Given the description of an element on the screen output the (x, y) to click on. 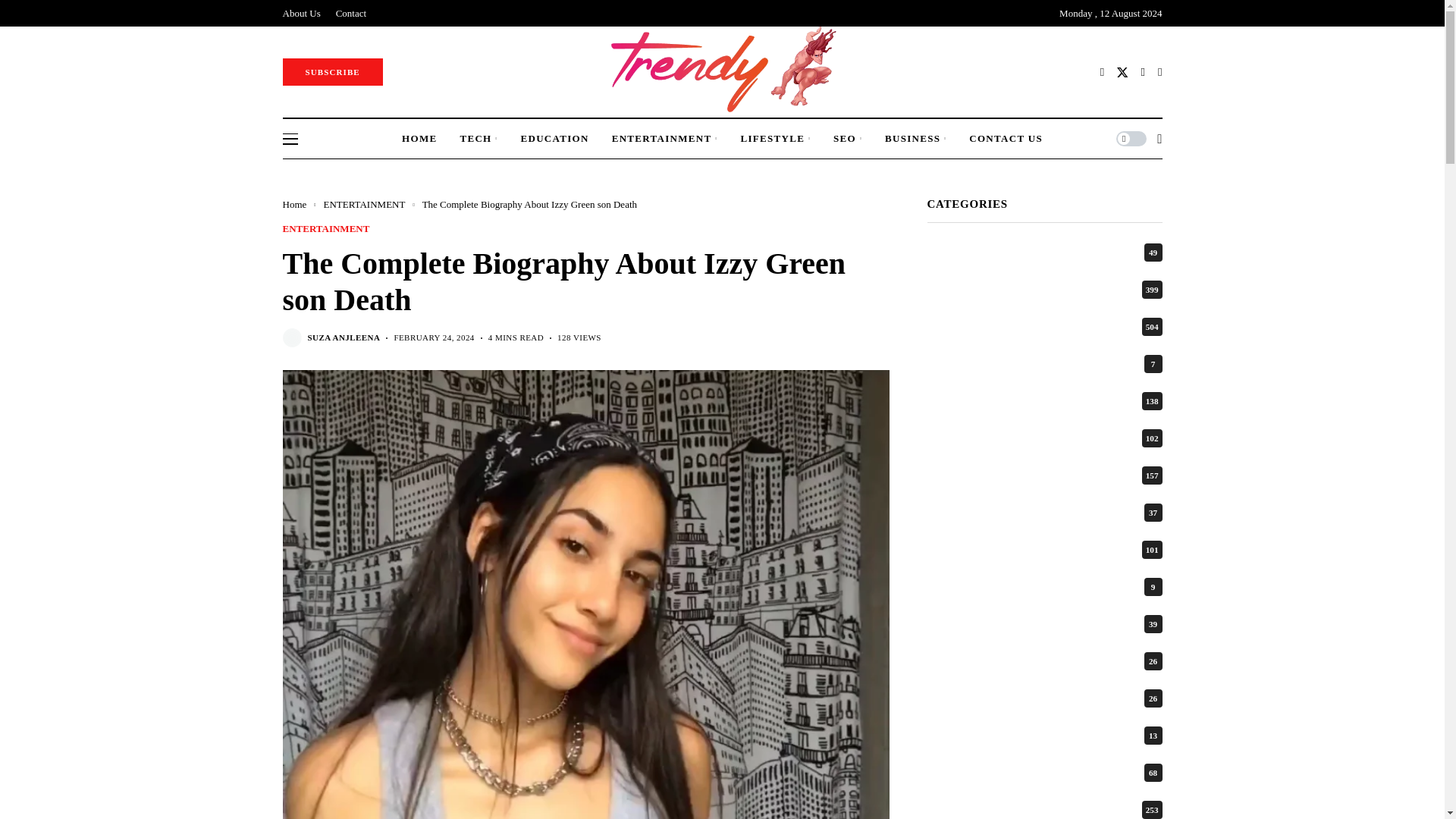
BUSINESS (915, 138)
ENTERTAINMENT (664, 138)
CONTACT US (1005, 138)
SUBSCRIBE (331, 71)
EDUCATION (553, 138)
TECH (478, 138)
About Us (301, 13)
Posts by Suza Anjleena (343, 337)
Contact (351, 13)
LIFESTYLE (774, 138)
